Given the description of an element on the screen output the (x, y) to click on. 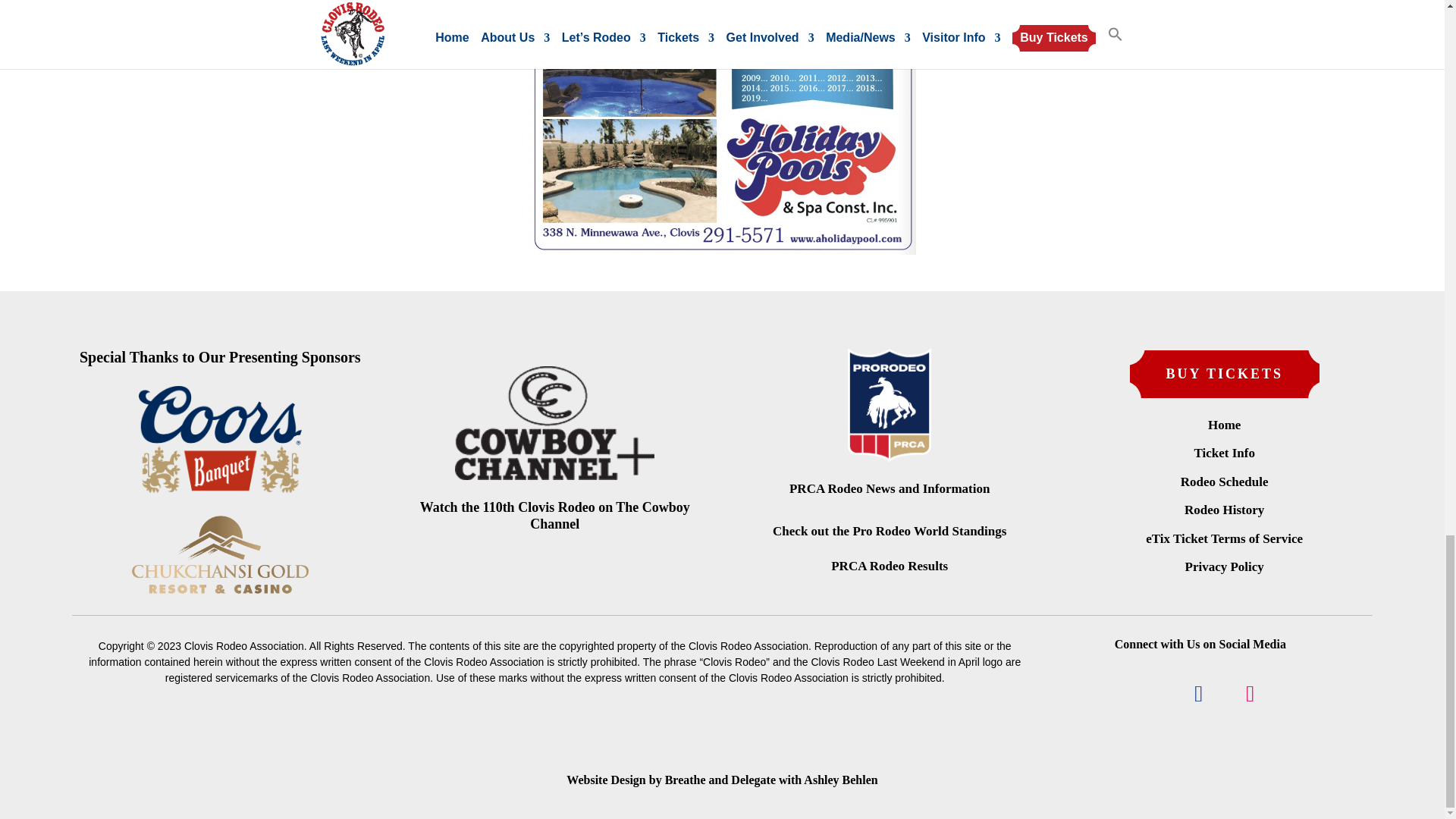
HOLIDAY POOLS AND SPA (721, 127)
CowboyChannelLogo (553, 422)
Follow on Facebook (1198, 693)
Follow on Instagram (1249, 693)
